Given the description of an element on the screen output the (x, y) to click on. 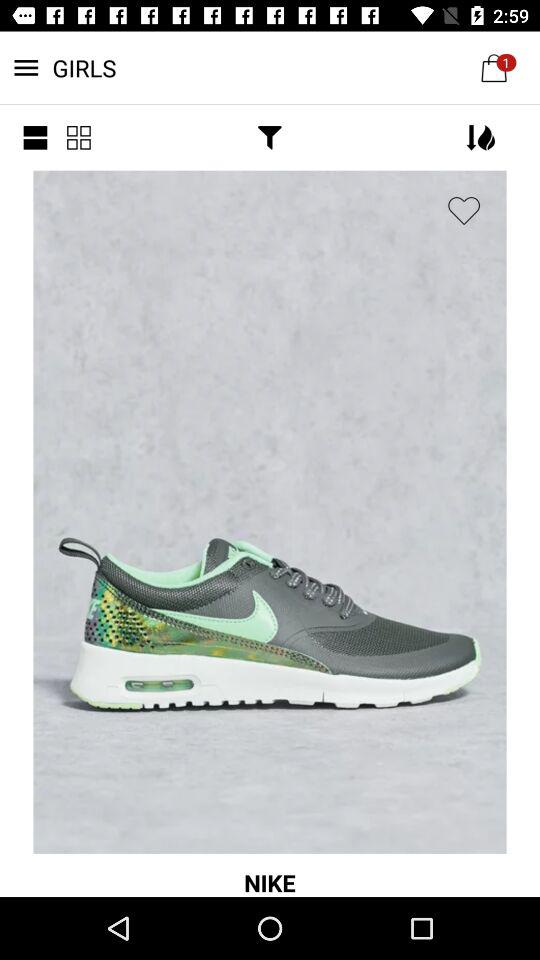
launch icon below the girls (35, 137)
